Given the description of an element on the screen output the (x, y) to click on. 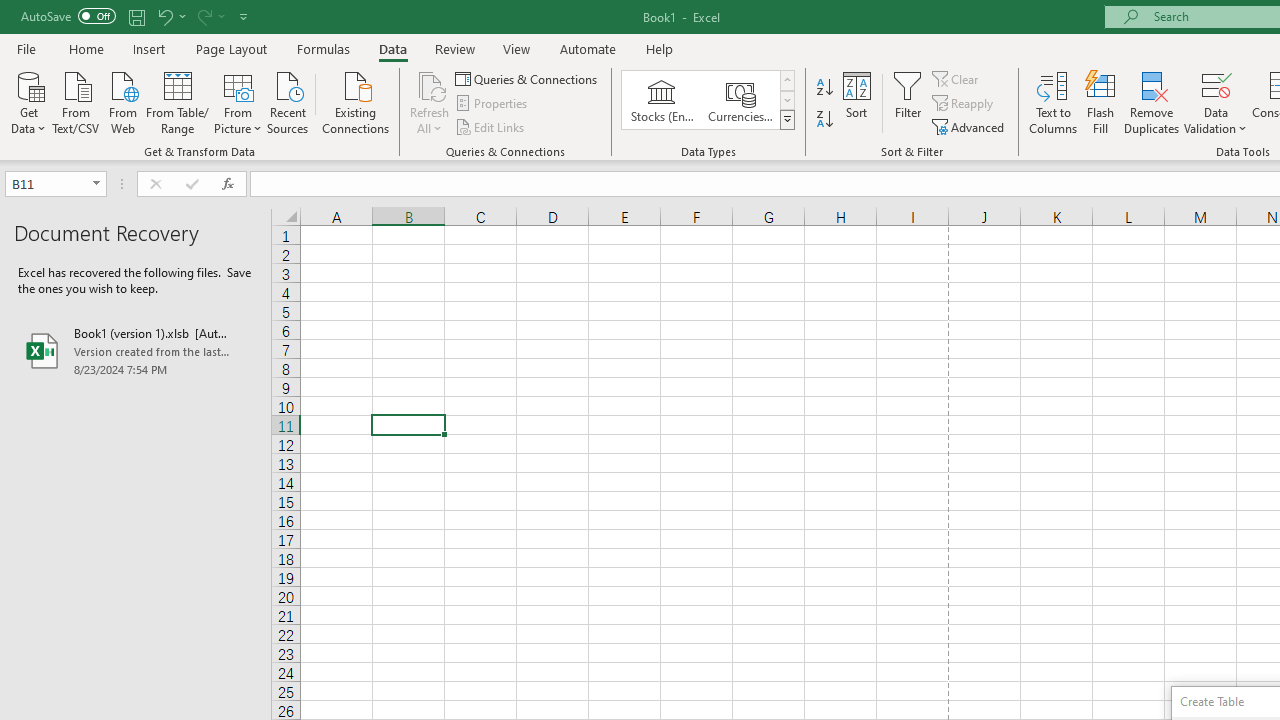
Reapply (964, 103)
Sort Z to A (824, 119)
Advanced... (970, 126)
Queries & Connections (527, 78)
Properties (492, 103)
Existing Connections (355, 101)
Flash Fill (1101, 102)
